Given the description of an element on the screen output the (x, y) to click on. 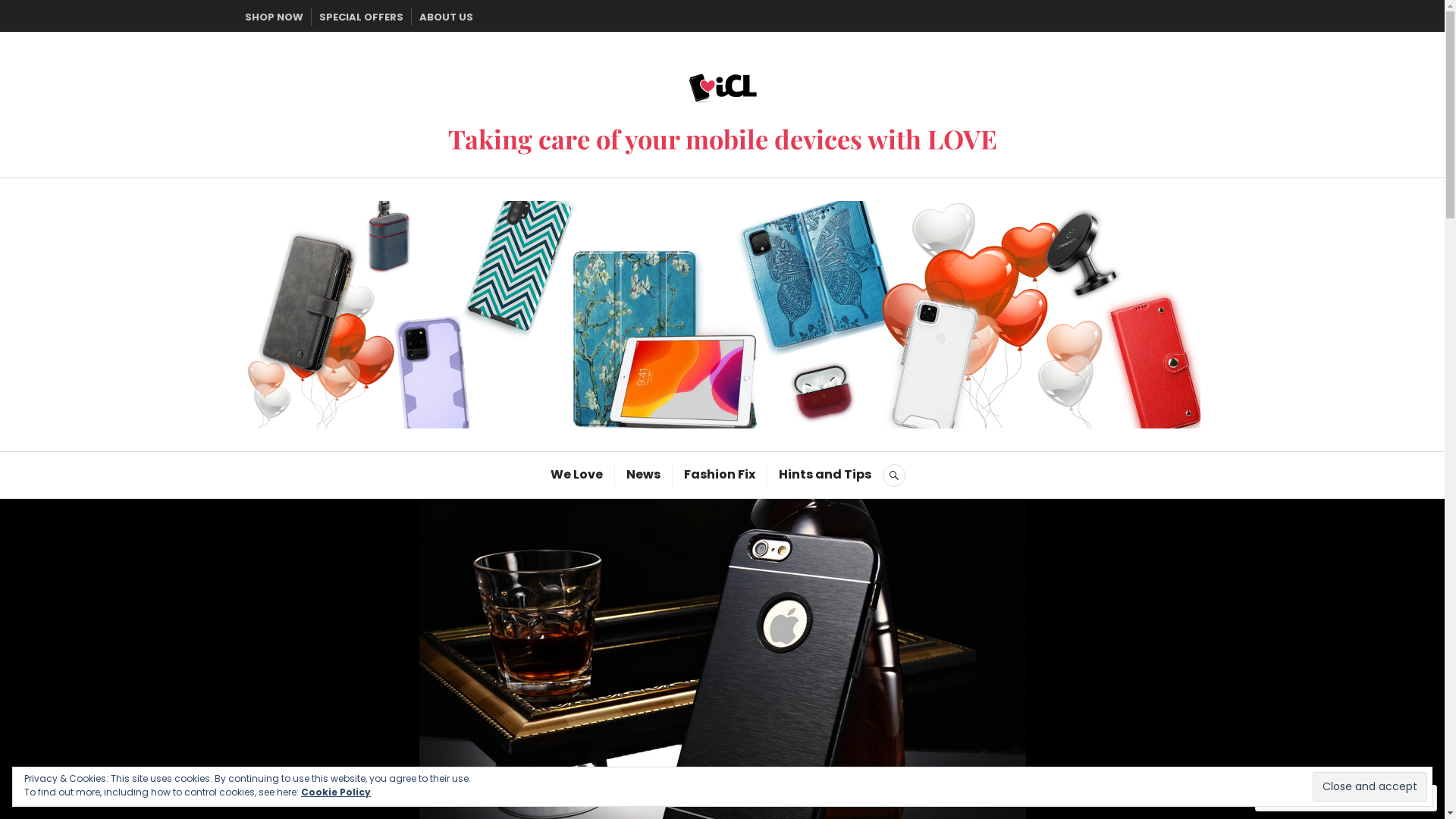
Comment Element type: text (1296, 797)
SPECIAL OFFERS Element type: text (360, 16)
Follow Element type: text (1372, 797)
Fashion Fix Element type: text (719, 474)
We Love Element type: text (576, 474)
News Element type: text (643, 474)
SHOP NOW Element type: text (273, 16)
ABOUT US Element type: text (445, 16)
Taking care of your mobile devices with LOVE Element type: text (721, 138)
Hints and Tips Element type: text (824, 474)
Cookie Policy Element type: text (335, 791)
Close and accept Element type: text (1369, 786)
